Given the description of an element on the screen output the (x, y) to click on. 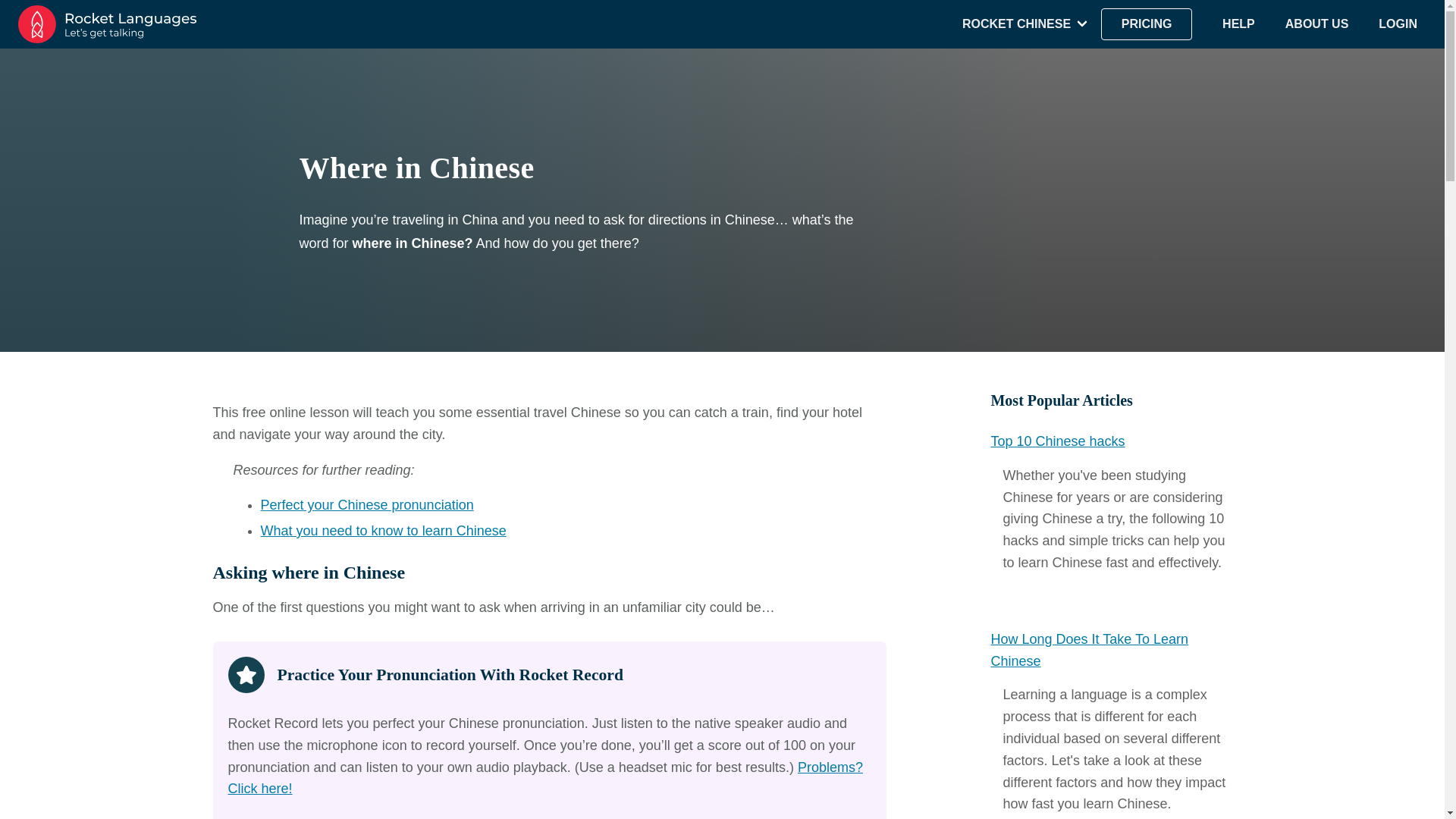
ABOUT US (1317, 24)
Perfect your Chinese pronunciation (367, 504)
ROCKET CHINESE (1016, 24)
LOGIN (1397, 24)
What you need to know to learn Chinese (383, 530)
PRICING (1146, 24)
Rocket Languages - Love your language-learning journey (106, 23)
HELP (1239, 24)
Problems? Click here! (544, 778)
